Given the description of an element on the screen output the (x, y) to click on. 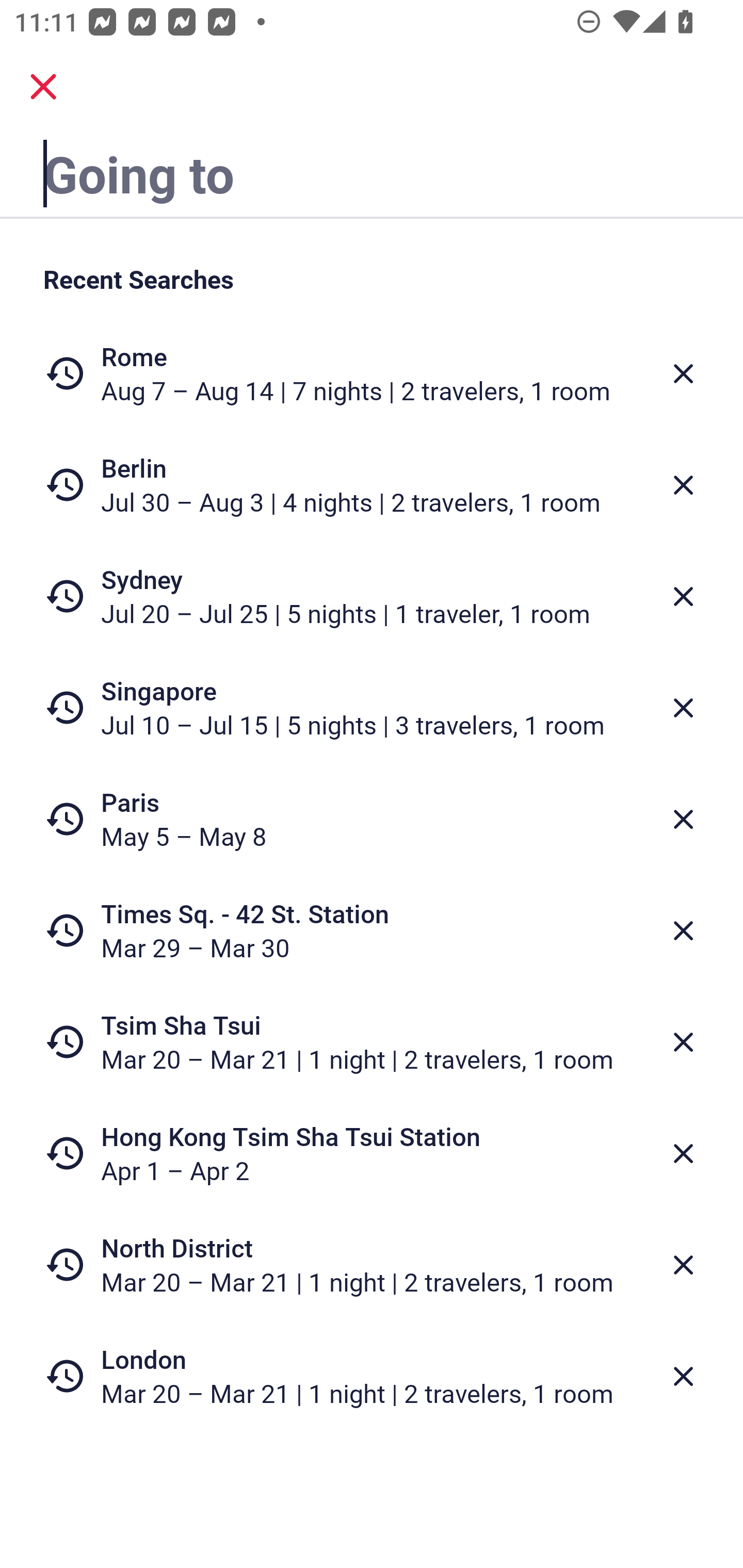
close. (43, 86)
Delete from recent searches (683, 373)
Delete from recent searches (683, 485)
Delete from recent searches (683, 596)
Delete from recent searches (683, 707)
Paris May 5 – May 8 (371, 818)
Delete from recent searches (683, 819)
Times Sq. - 42 St. Station Mar 29 – Mar 30 (371, 930)
Delete from recent searches (683, 930)
Delete from recent searches (683, 1041)
Hong Kong Tsim Sha Tsui Station Apr 1 – Apr 2 (371, 1152)
Delete from recent searches (683, 1153)
Delete from recent searches (683, 1265)
Delete from recent searches (683, 1376)
